Given the description of an element on the screen output the (x, y) to click on. 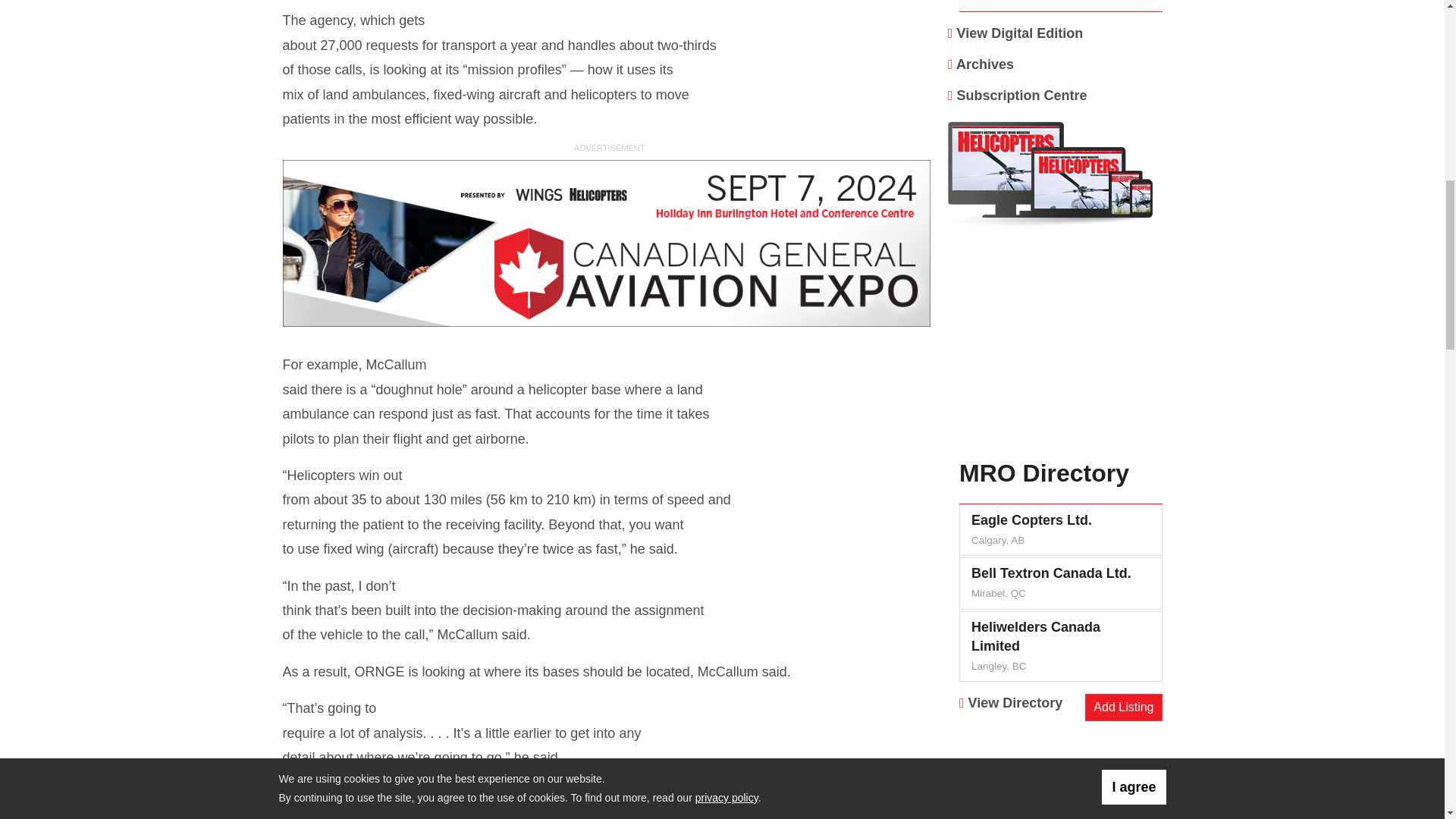
3rd party ad content (609, 244)
3rd party ad content (1060, 349)
3rd party ad content (1060, 771)
